Given the description of an element on the screen output the (x, y) to click on. 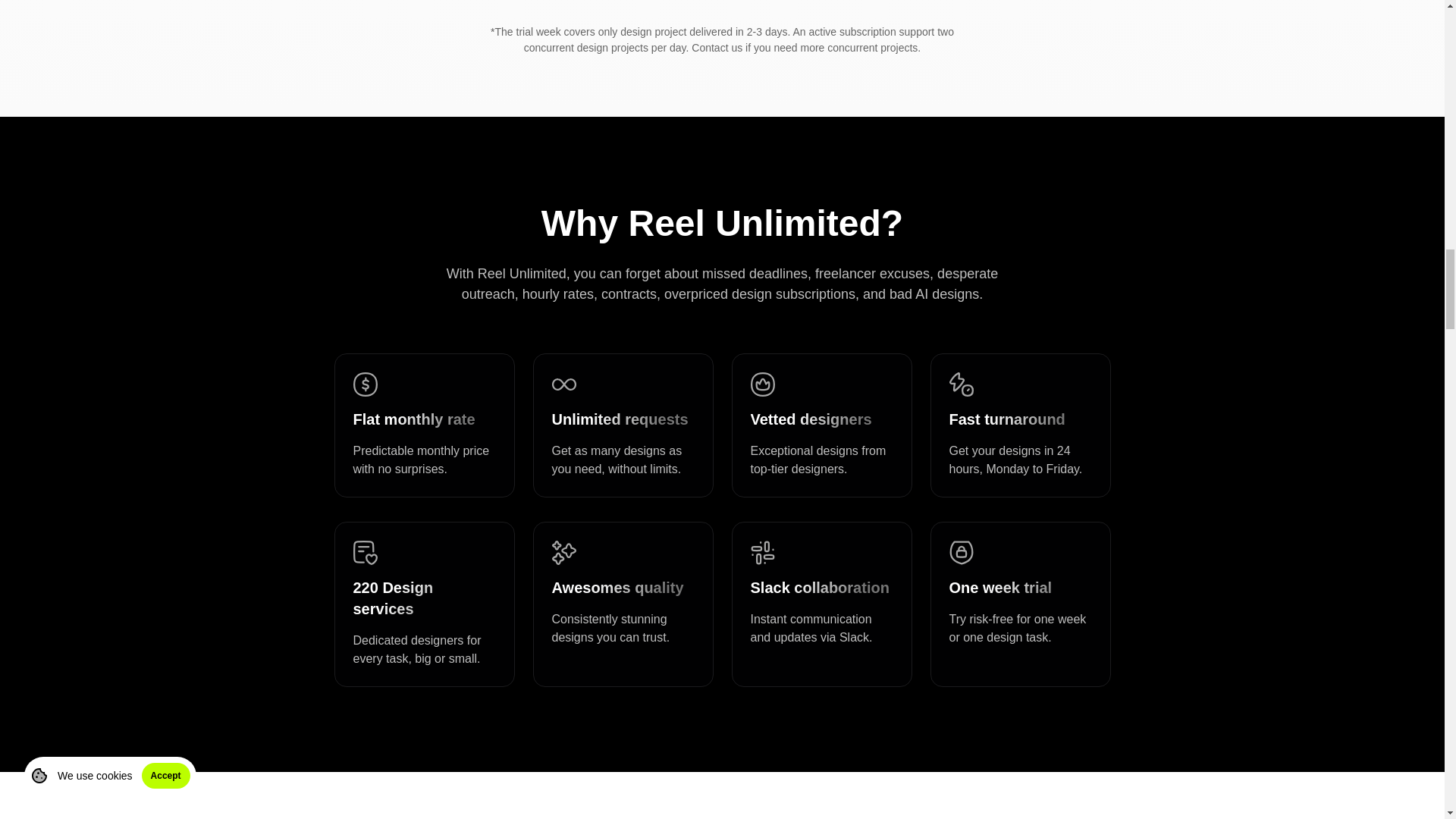
Contact us (716, 47)
